Given the description of an element on the screen output the (x, y) to click on. 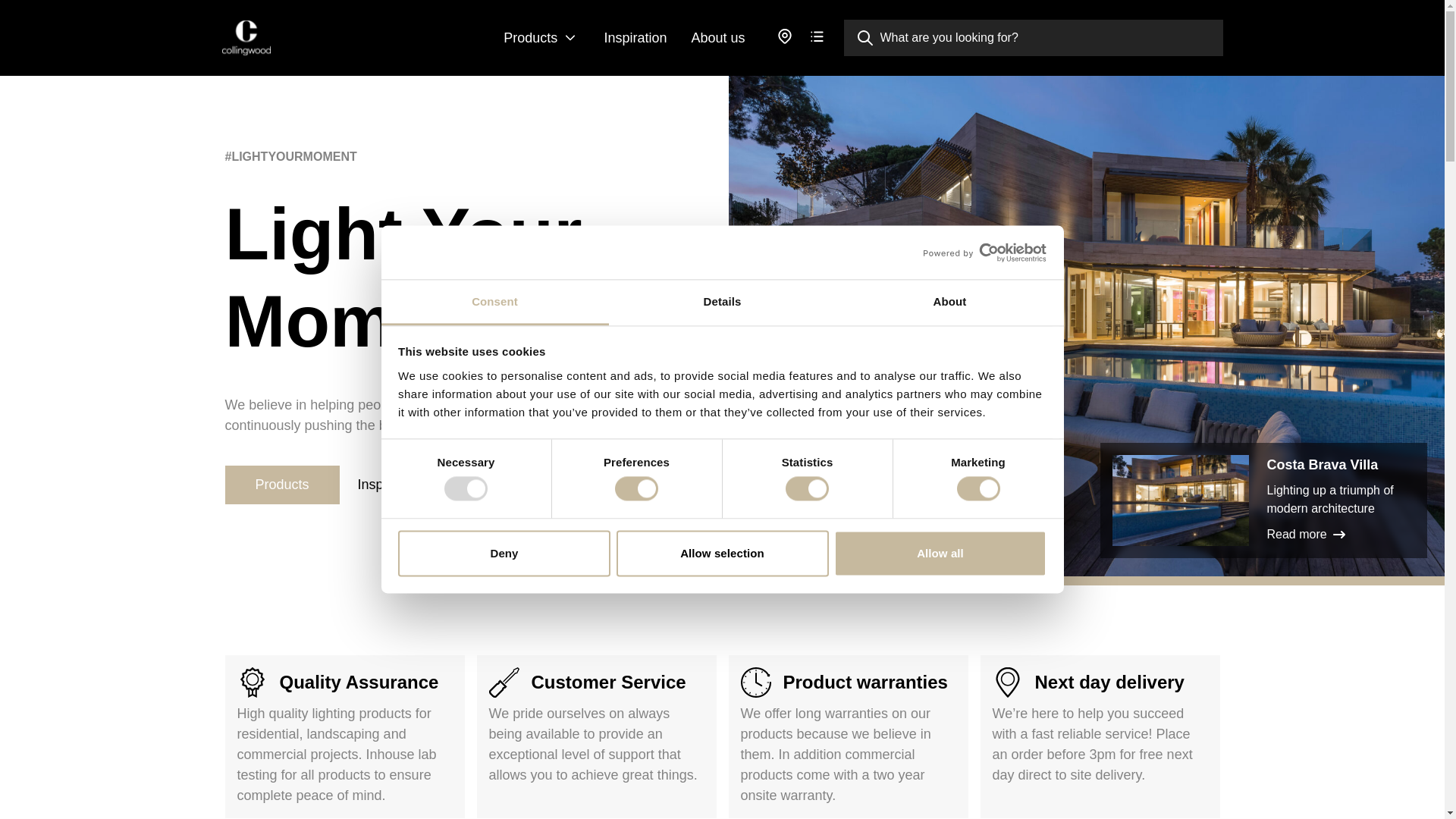
Allow all (940, 552)
About (948, 302)
Deny (503, 552)
Details (721, 302)
Consent (494, 302)
Allow selection (721, 552)
